Given the description of an element on the screen output the (x, y) to click on. 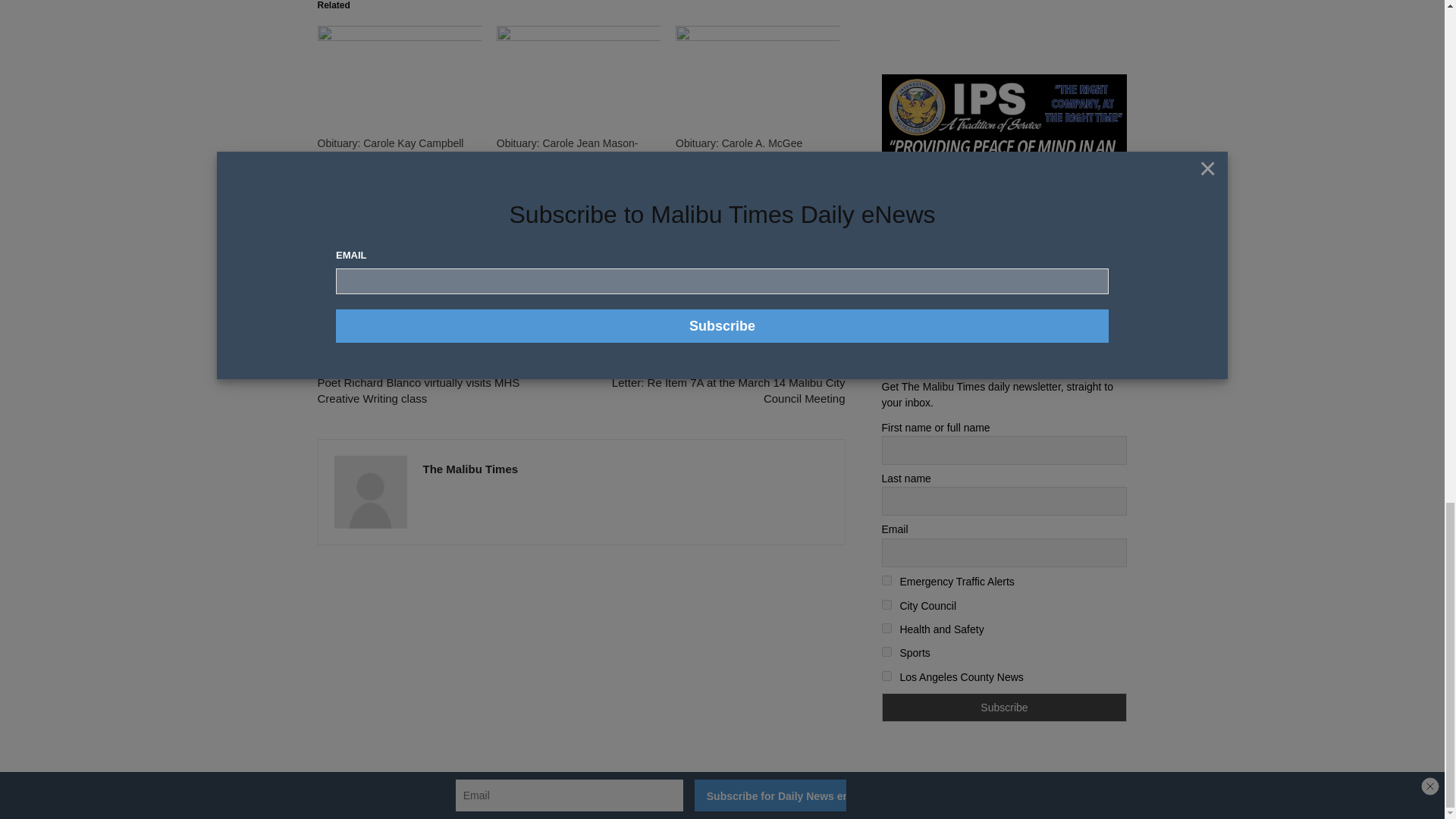
4 (885, 628)
5 (885, 651)
2 (885, 580)
6 (885, 675)
Subscribe (1003, 706)
3 (885, 604)
